Given the description of an element on the screen output the (x, y) to click on. 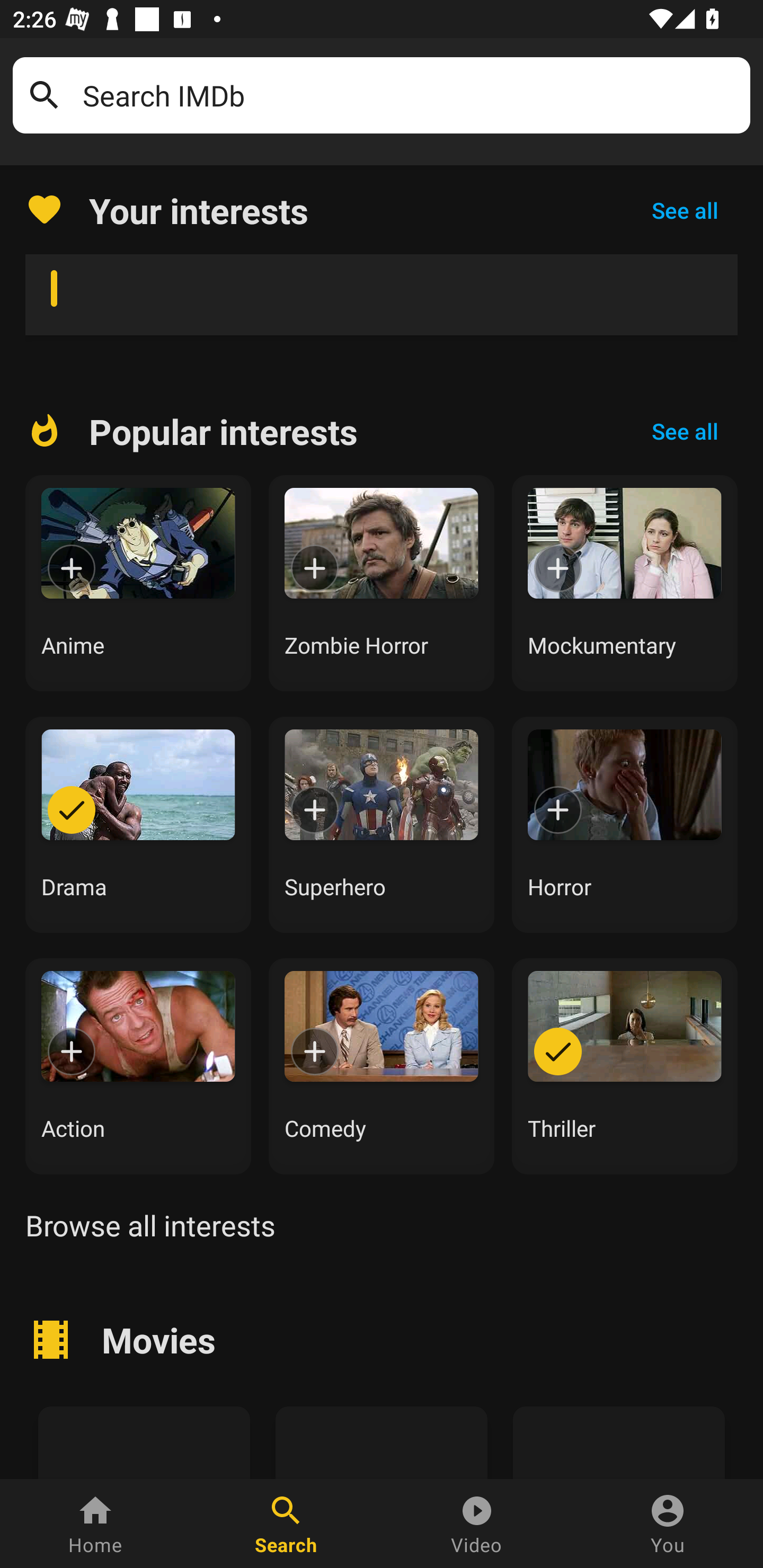
Search IMDb (410, 95)
See all (684, 209)
See all (684, 430)
Anime (138, 583)
Zombie Horror (381, 583)
Mockumentary (624, 583)
Drama (138, 824)
Superhero (381, 824)
Horror (624, 824)
Action (138, 1065)
Comedy (381, 1065)
Thriller (624, 1065)
Browse all interests (150, 1224)
Home (95, 1523)
Video (476, 1523)
You (667, 1523)
